Given the description of an element on the screen output the (x, y) to click on. 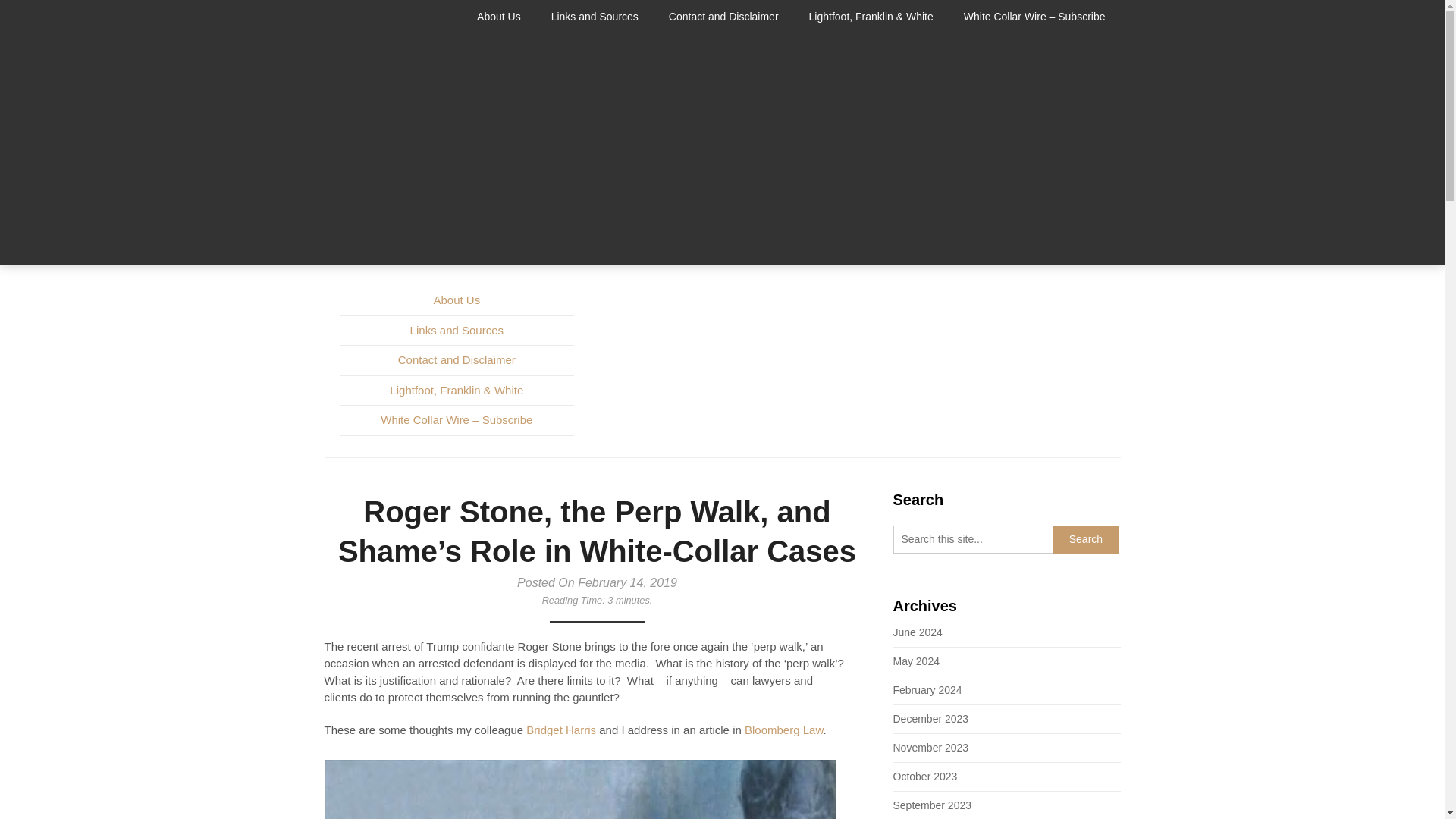
Bridget Harris (560, 729)
About Us (506, 17)
September 2023 (932, 805)
Contact and Disclaimer (723, 17)
Search (1085, 538)
Links and Sources (594, 17)
June 2024 (917, 632)
May 2024 (916, 661)
Contact and Disclaimer (456, 359)
About Us (456, 299)
